Given the description of an element on the screen output the (x, y) to click on. 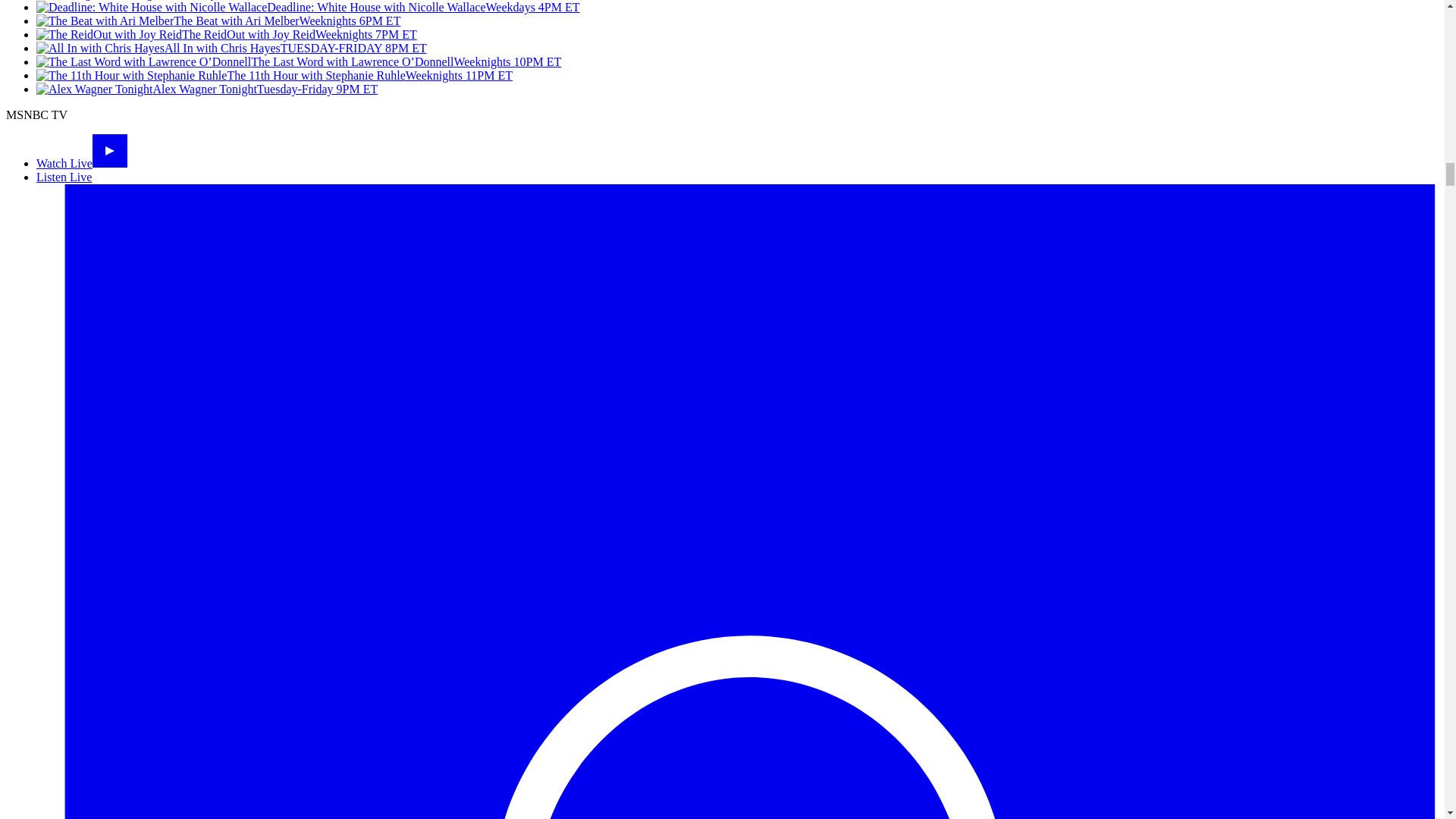
Deadline: White House with Nicolle WallaceWeekdays 4PM ET (307, 6)
The 11th Hour with Stephanie RuhleWeeknights 11PM ET (274, 74)
Alex Wagner TonightTuesday-Friday 9PM ET (206, 88)
The ReidOut with Joy ReidWeeknights 7PM ET (226, 33)
Watch Live (82, 163)
All In with Chris HayesTUESDAY-FRIDAY 8PM ET (231, 47)
The Beat with Ari MelberWeeknights 6PM ET (218, 20)
